Given the description of an element on the screen output the (x, y) to click on. 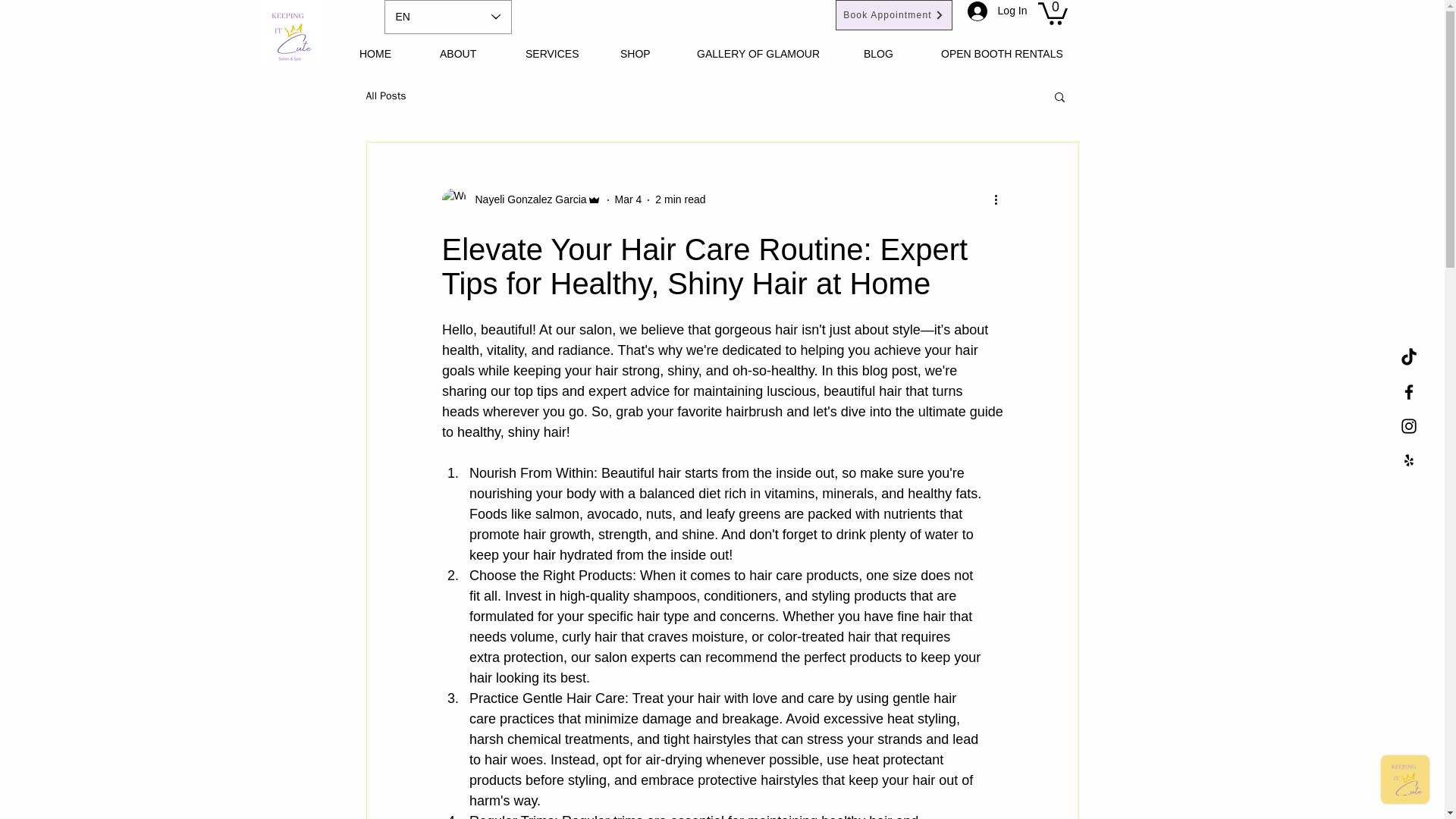
GALLERY OF GLAMOUR (768, 53)
HOME (387, 53)
Mar 4 (628, 199)
2 min read (679, 199)
0 (1051, 12)
ABOUT (470, 53)
OPEN BOOTH RENTALS (1013, 53)
All Posts (385, 96)
0 (1051, 12)
SERVICES (560, 53)
BLOG (890, 53)
Nayeli Gonzalez Garcia (520, 200)
SHOP (646, 53)
Nayeli Gonzalez Garcia (525, 199)
Book Appointment (893, 15)
